Given the description of an element on the screen output the (x, y) to click on. 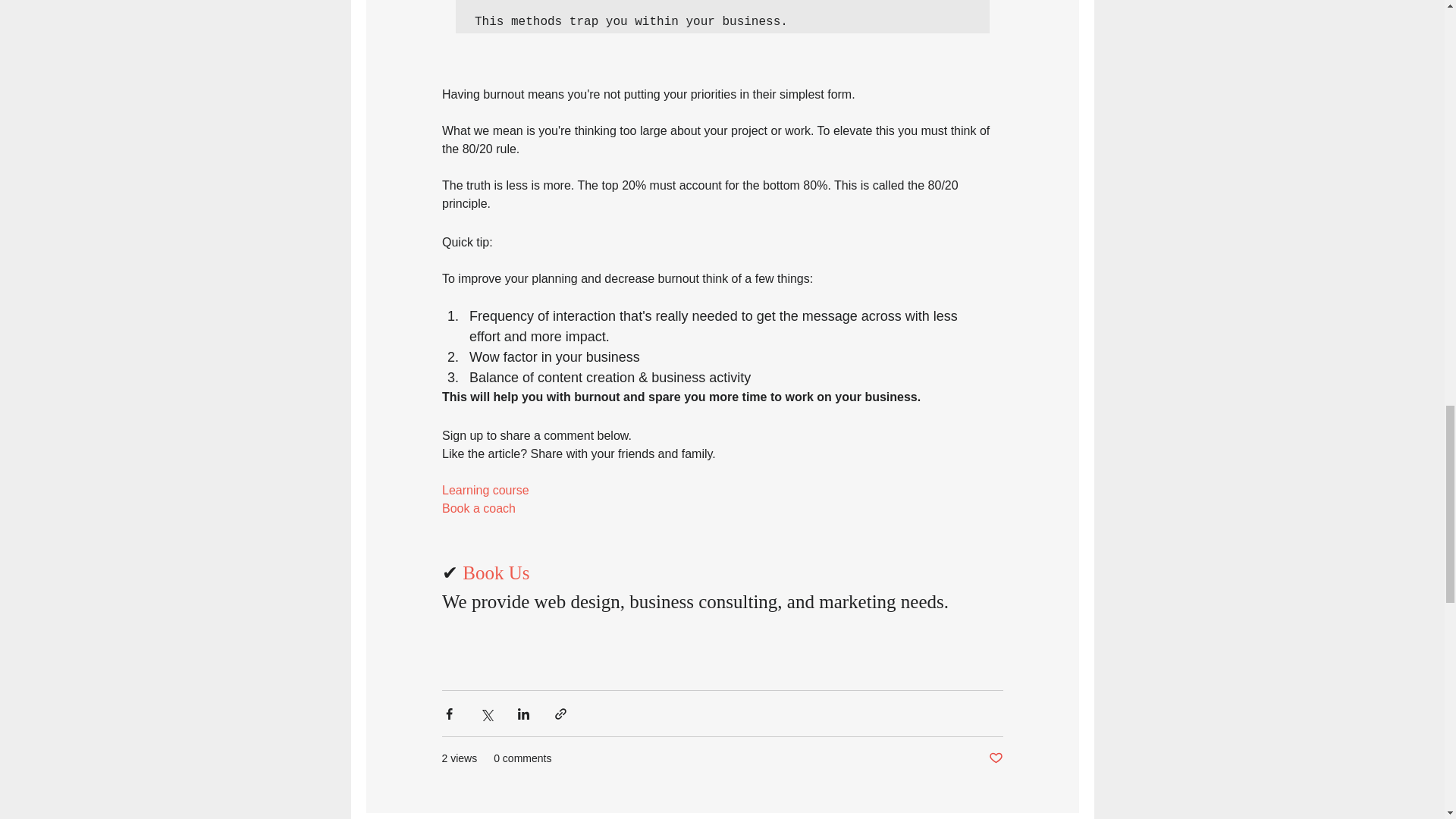
Learning course (484, 490)
Book Us  (498, 572)
Book a coach (478, 508)
